Given the description of an element on the screen output the (x, y) to click on. 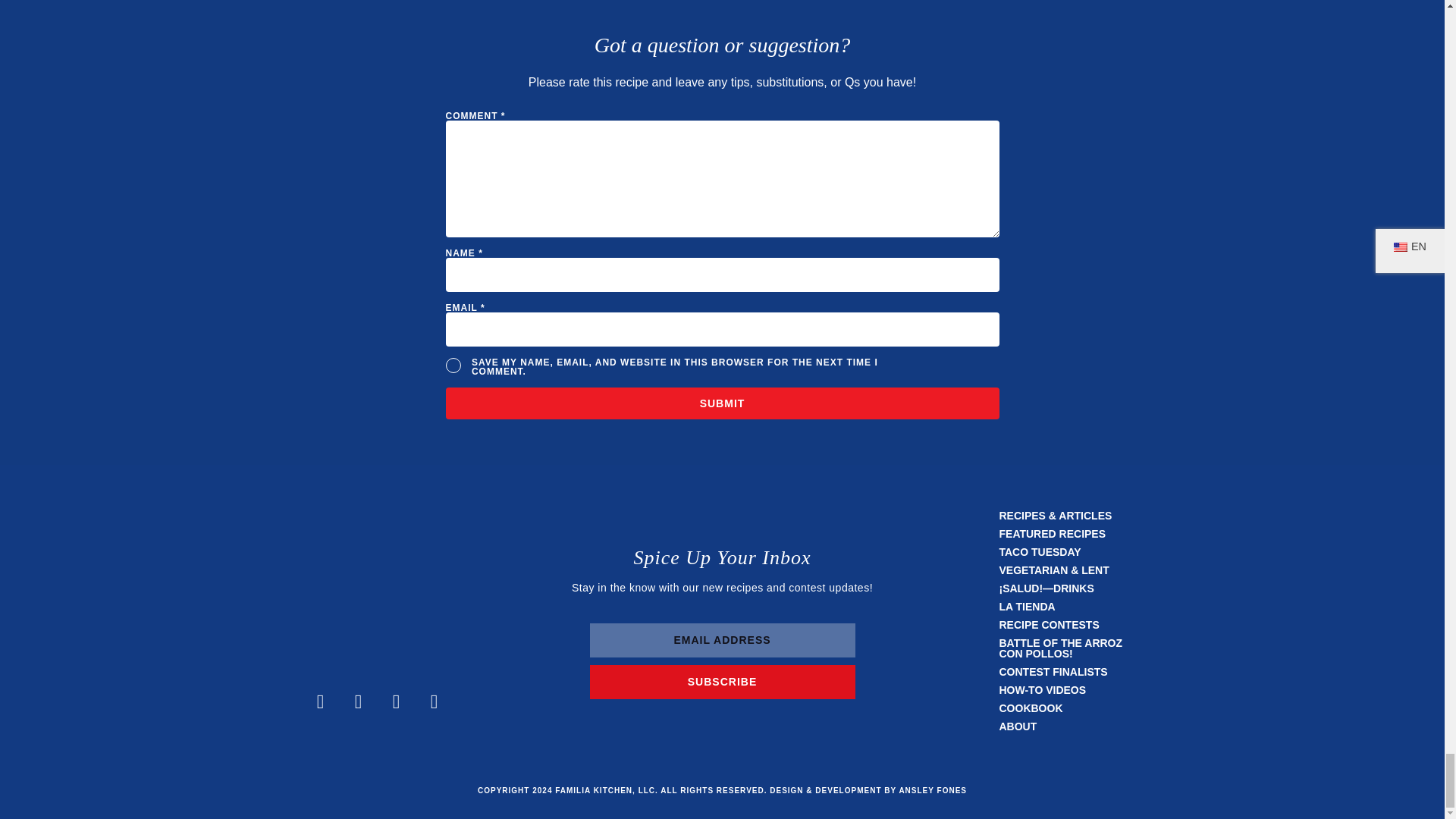
Submit (721, 403)
yes (453, 365)
Subscribe (722, 682)
